Given the description of an element on the screen output the (x, y) to click on. 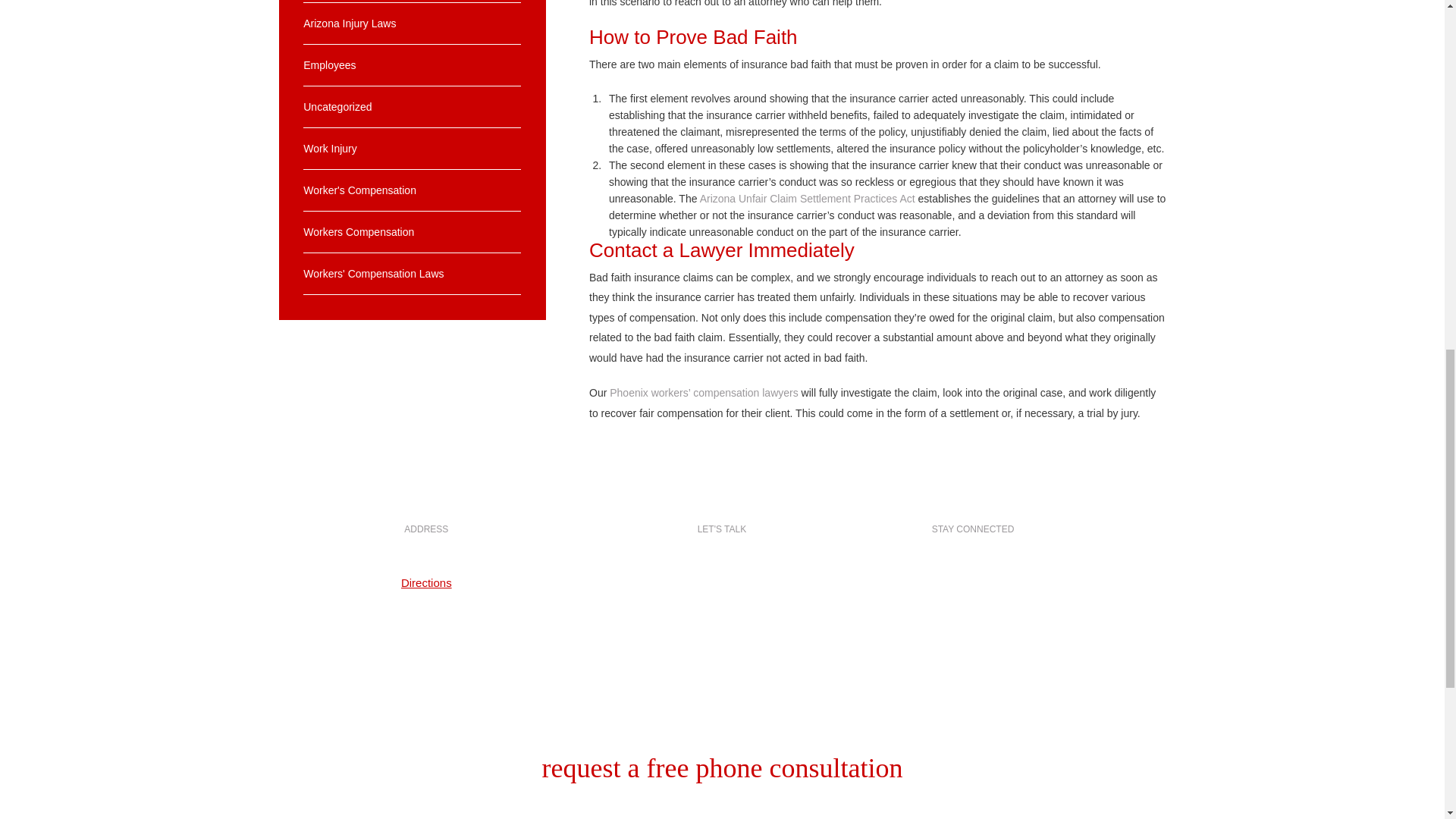
Uncategorized (411, 106)
Employees (411, 65)
Worker's Compensation (411, 189)
Work Injury (411, 147)
Arizona Injury Laws (411, 23)
